Given the description of an element on the screen output the (x, y) to click on. 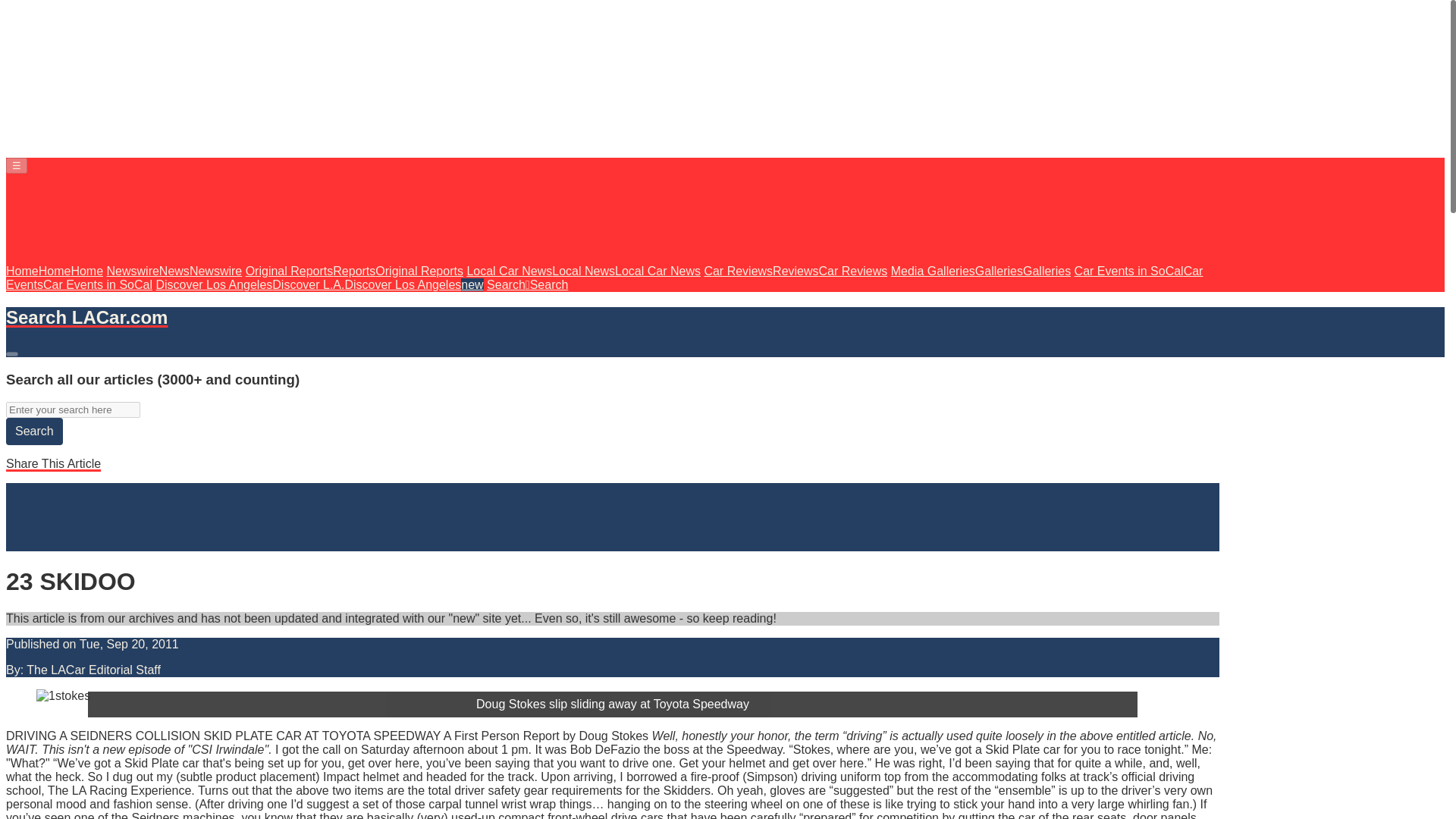
Discover Los AngelesDiscover L.A.Discover Los Angelesnew (319, 284)
Search (33, 431)
Media GalleriesGalleriesGalleries (980, 270)
Car Events in SoCalCar EventsCar Events in SoCal (603, 277)
NewswireNewsNewswire (174, 270)
Original ReportsReportsOriginal Reports (354, 270)
HomeHomeHome (54, 270)
Local Car NewsLocal NewsLocal Car News (582, 270)
Car ReviewsReviewsCar Reviews (794, 270)
